Given the description of an element on the screen output the (x, y) to click on. 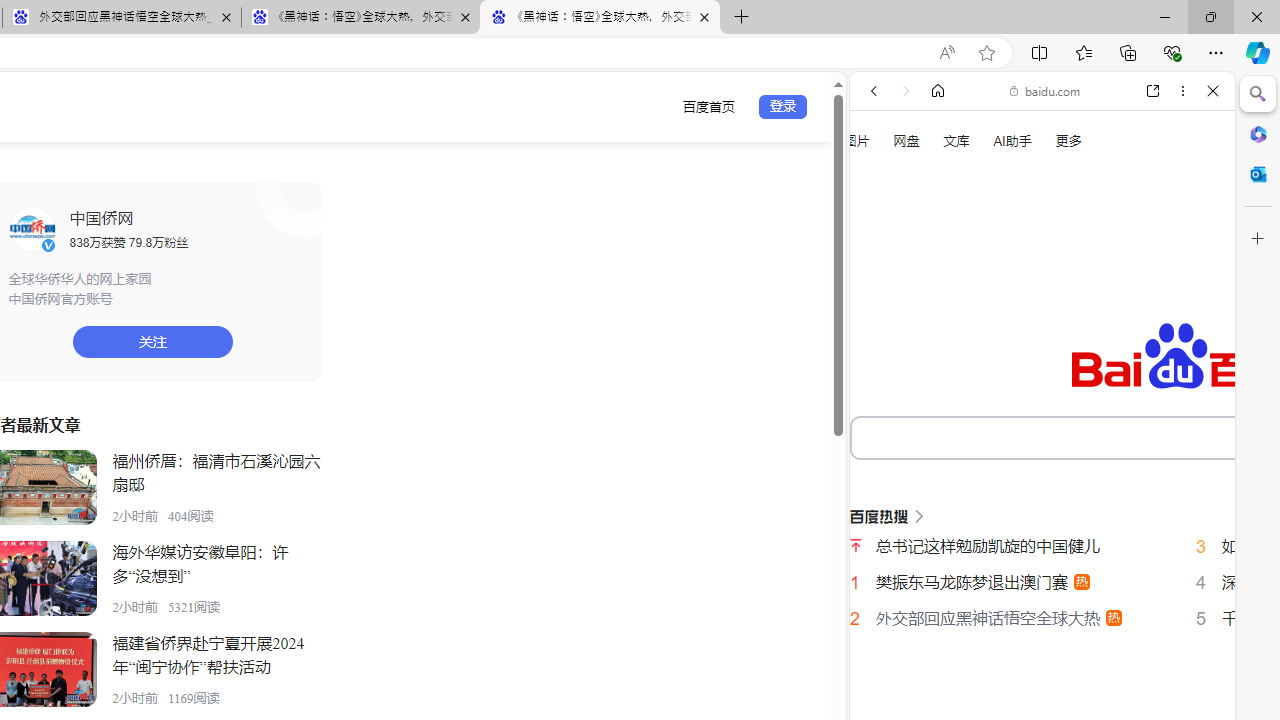
baidu.com (1045, 90)
English (US) (1042, 579)
Search Filter, WEB (882, 339)
Learn more (943, 272)
WEB   (882, 339)
Cambridge Dictionary (1034, 698)
